Given the description of an element on the screen output the (x, y) to click on. 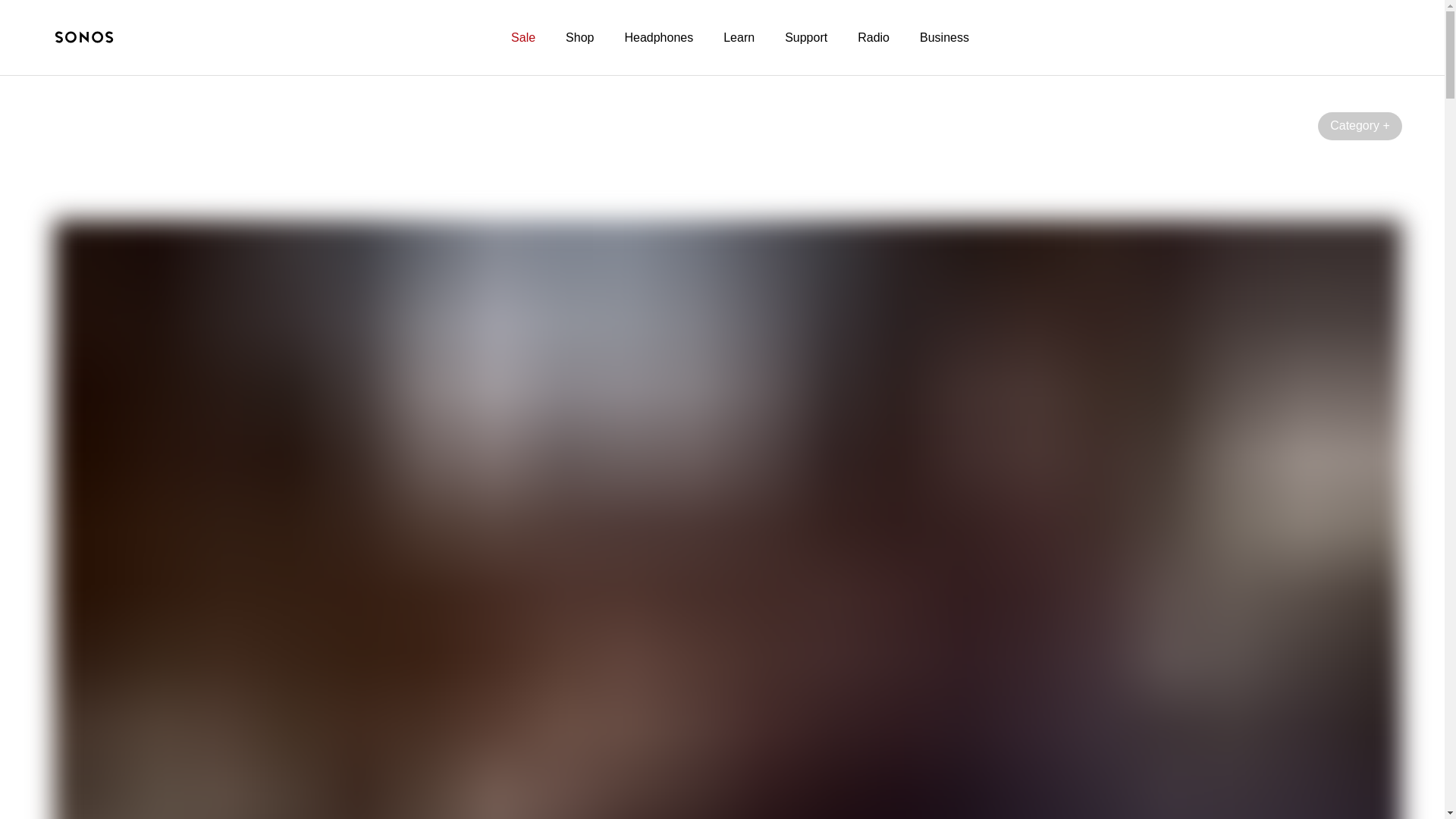
Learn (738, 37)
Support (805, 37)
Radio (873, 37)
Headphones (658, 37)
Sale (523, 37)
Business (944, 37)
Shop (580, 37)
